Given the description of an element on the screen output the (x, y) to click on. 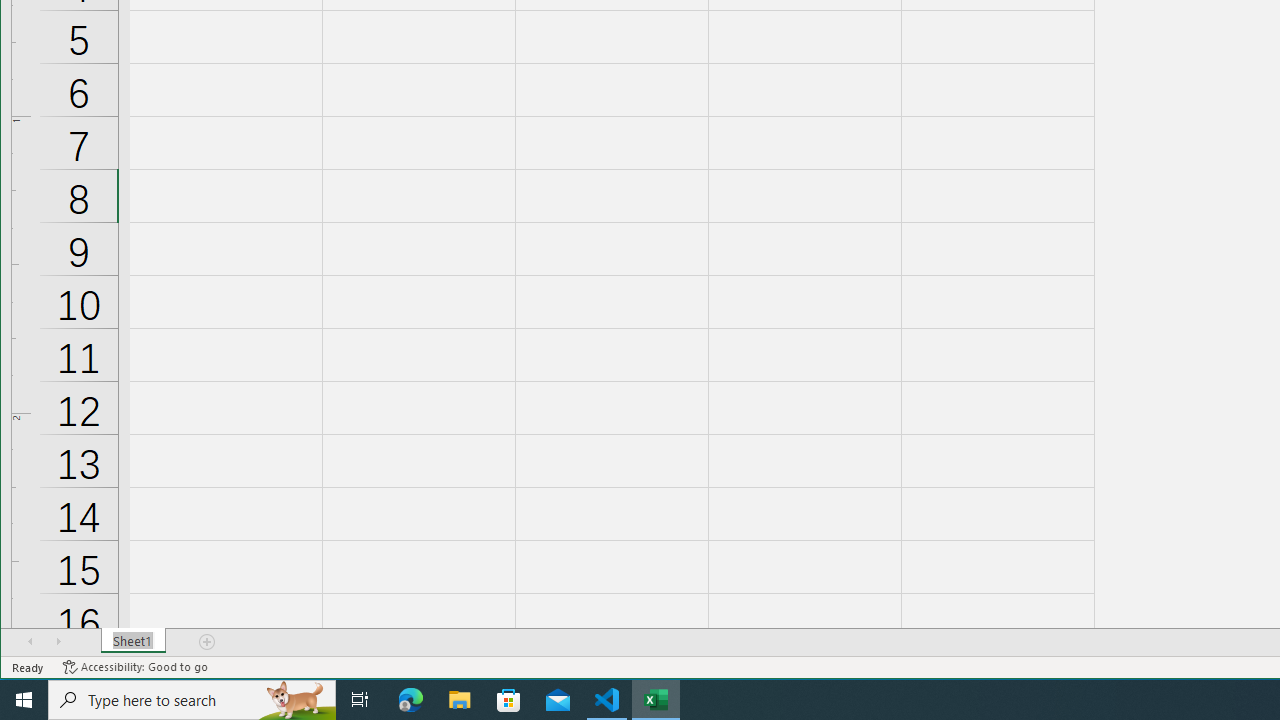
Microsoft Store (509, 699)
Excel - 1 running window (656, 699)
Start (24, 699)
Visual Studio Code - 1 running window (607, 699)
File Explorer (460, 699)
Microsoft Edge (411, 699)
Task View (359, 699)
Sheet Tab (133, 641)
Search highlights icon opens search home window (295, 699)
